Given the description of an element on the screen output the (x, y) to click on. 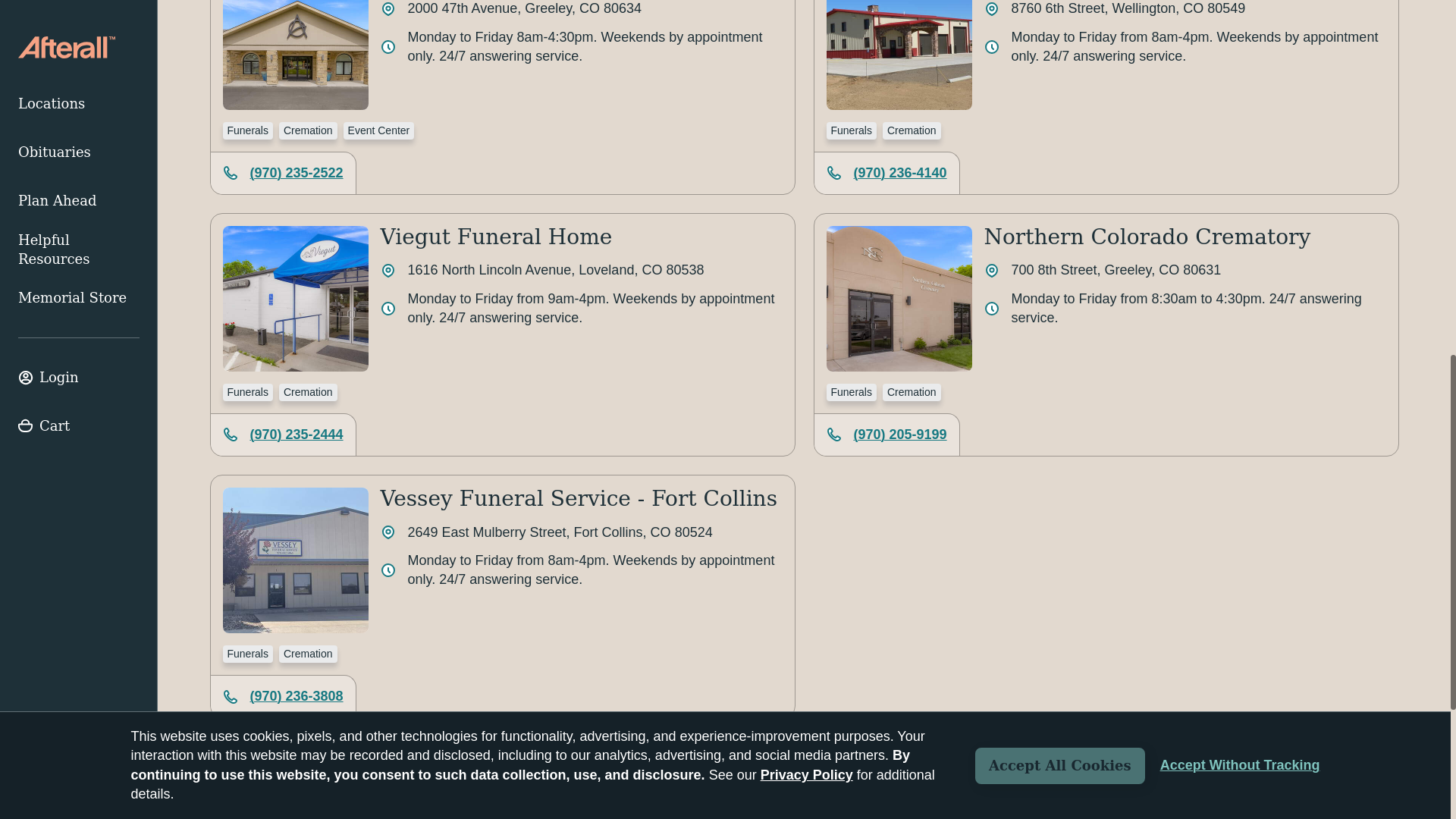
Viegut Funeral Home (496, 236)
